Given the description of an element on the screen output the (x, y) to click on. 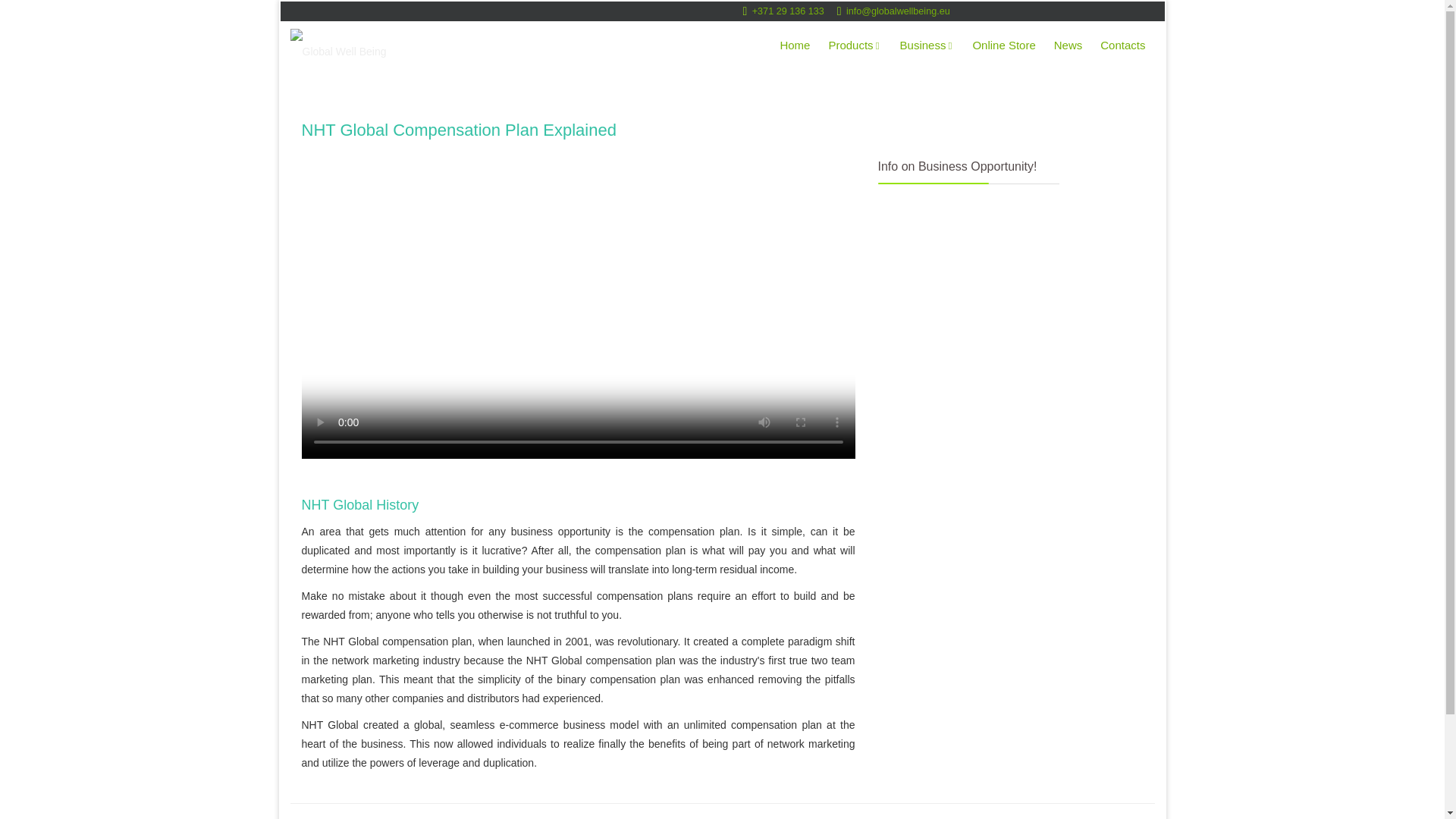
Home (794, 44)
Products (853, 44)
